Given the description of an element on the screen output the (x, y) to click on. 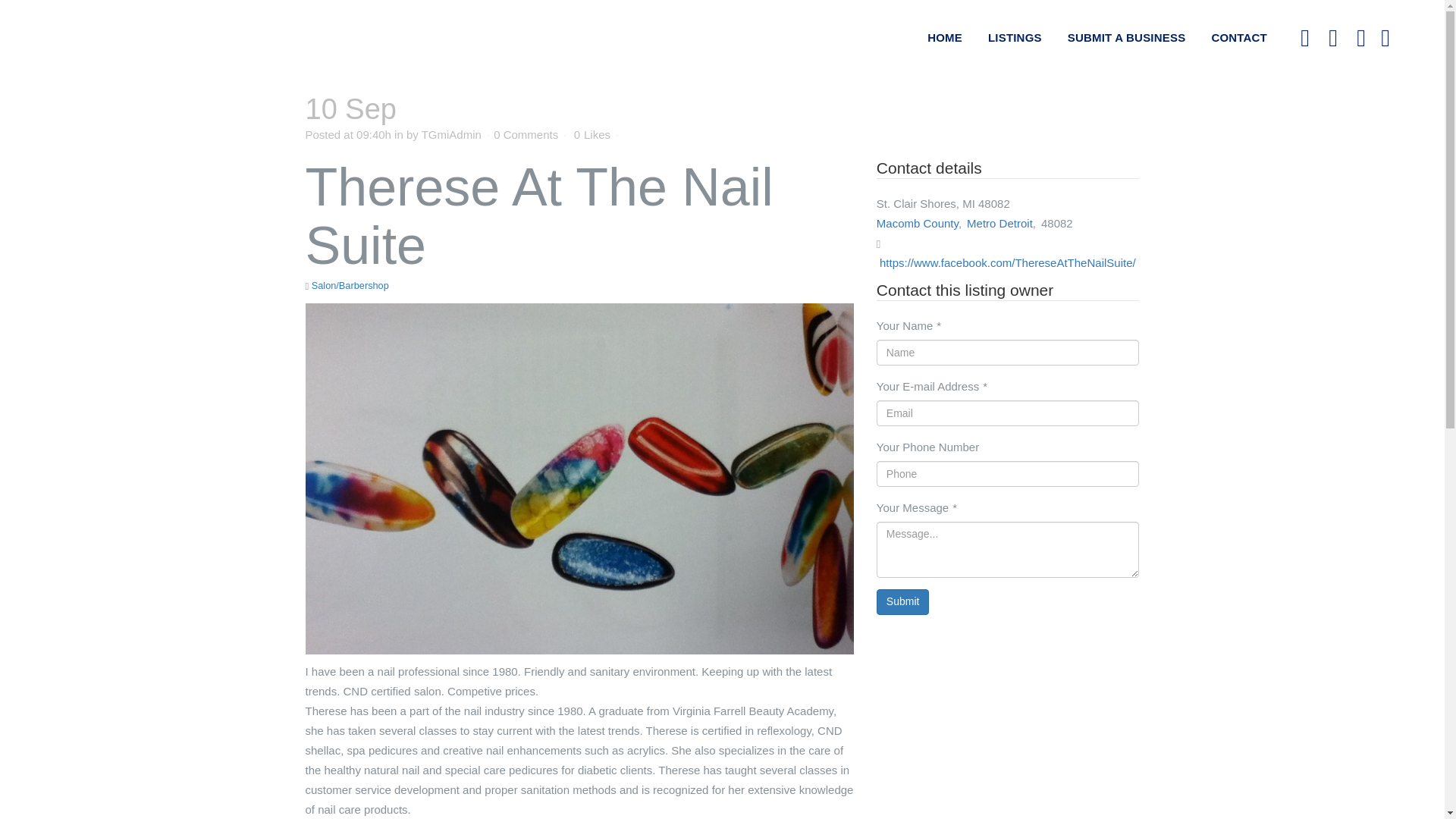
Macomb County (917, 223)
TGmiAdmin (451, 133)
0 Likes (591, 134)
CONTACT (1238, 38)
SUBMIT A BUSINESS (1126, 38)
0 Comments (525, 133)
Like this (591, 134)
Metro Detroit (999, 223)
Submit (903, 601)
LISTINGS (1014, 38)
